Given the description of an element on the screen output the (x, y) to click on. 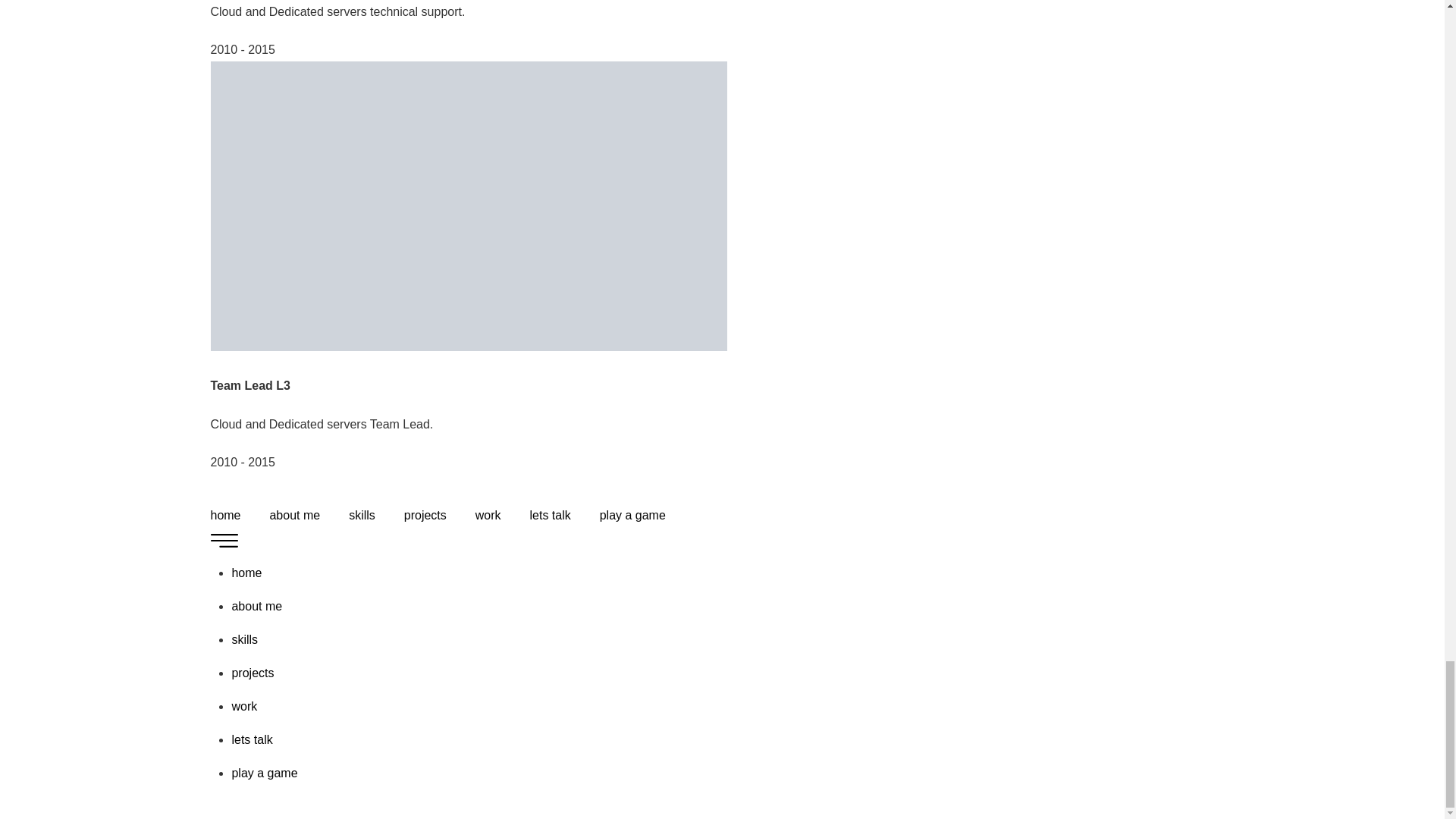
projects (425, 515)
home (226, 515)
skills (362, 515)
projects (252, 672)
skills (244, 639)
lets talk (549, 515)
work (244, 706)
work (488, 515)
about me (294, 515)
home (246, 572)
lets talk (251, 739)
about me (256, 605)
play a game (632, 515)
play a game (264, 772)
